Given the description of an element on the screen output the (x, y) to click on. 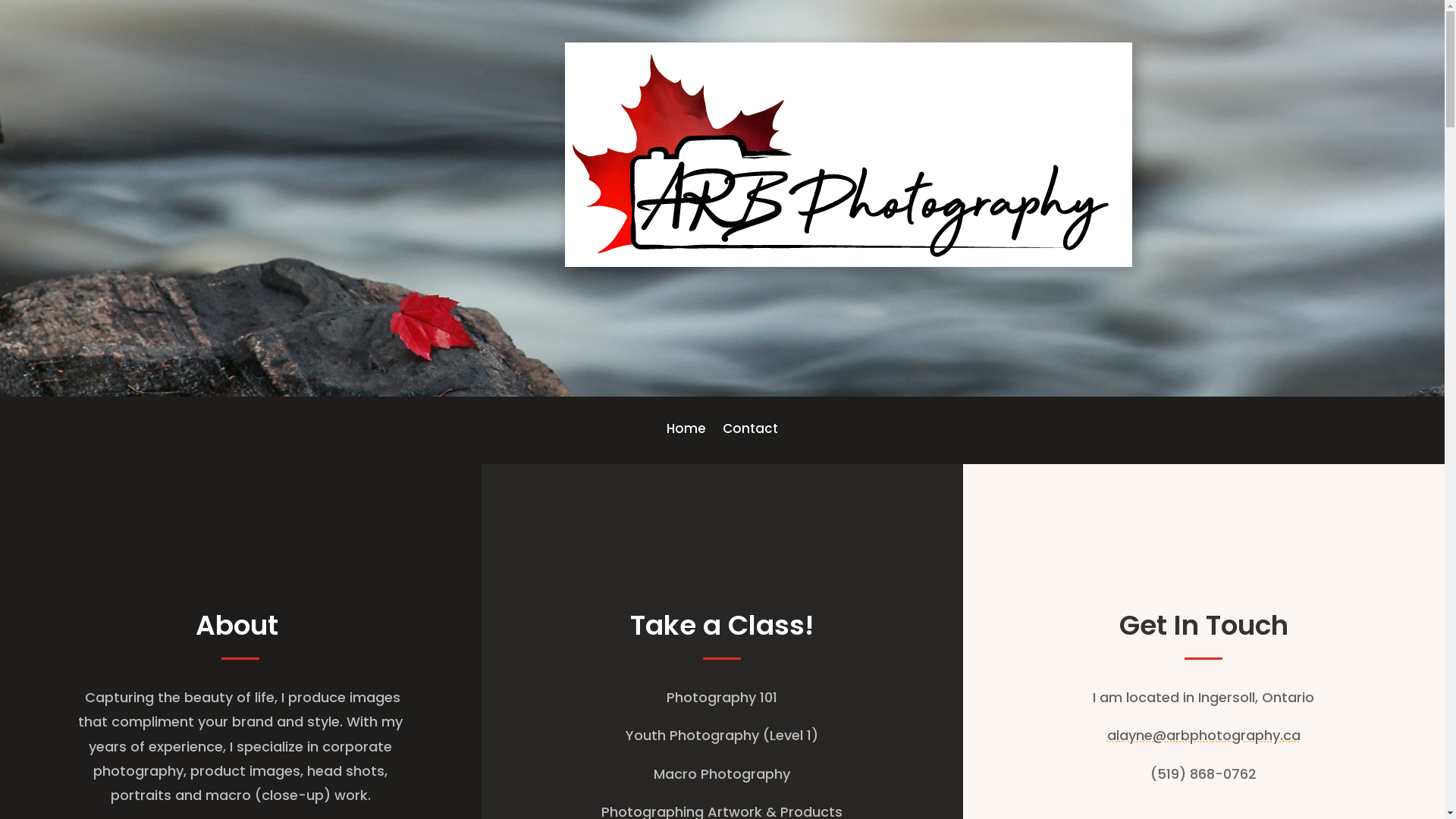
Contact Element type: text (750, 431)
Home Element type: text (686, 431)
alayne@arbphotography.ca Element type: text (1203, 734)
